Given the description of an element on the screen output the (x, y) to click on. 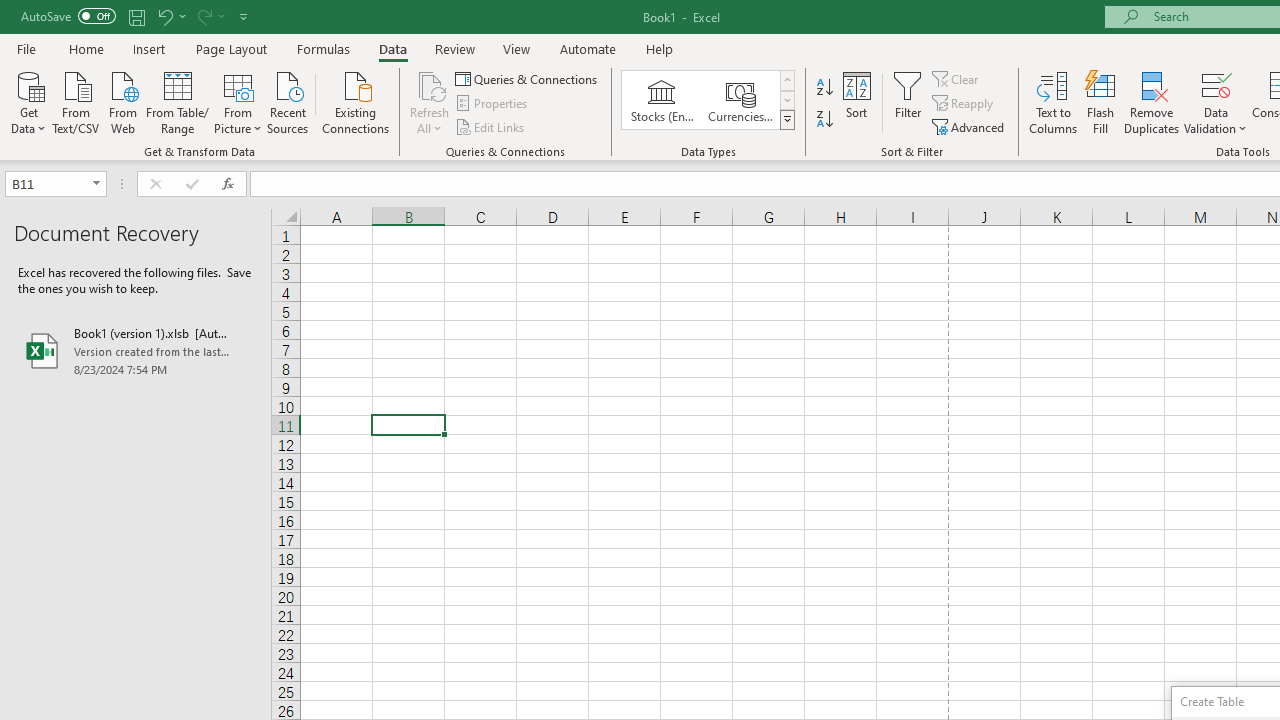
From Picture (238, 101)
